Given the description of an element on the screen output the (x, y) to click on. 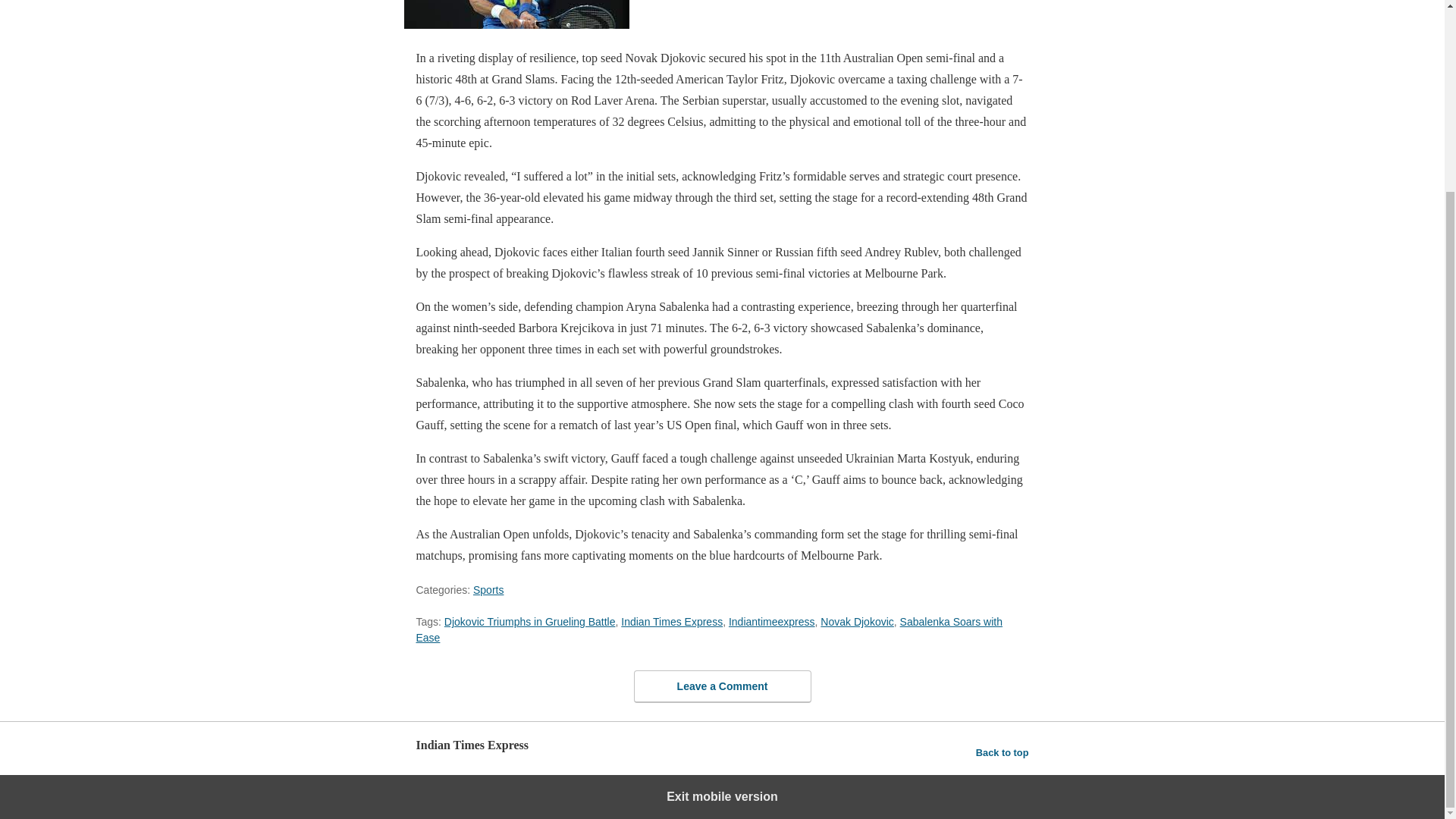
Back to top (1002, 752)
Leave a Comment (721, 686)
Indian Times Express (671, 621)
Sports (488, 589)
Indiantimeexpress (772, 621)
Novak Djokovic (857, 621)
Sabalenka Soars with Ease (708, 629)
Djokovic Triumphs in Grueling Battle (529, 621)
